Given the description of an element on the screen output the (x, y) to click on. 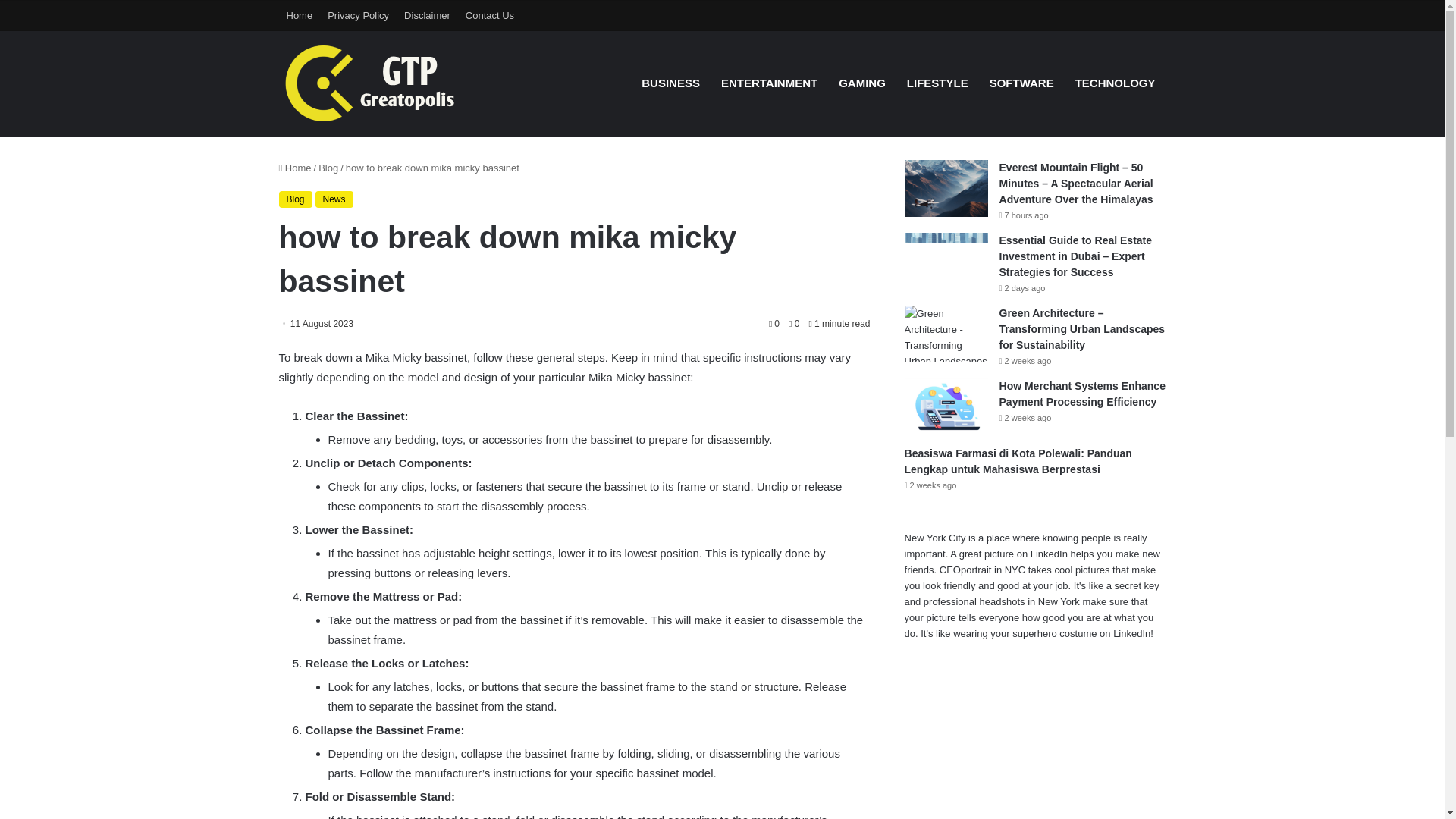
News (334, 199)
Blog (327, 167)
Blog (296, 199)
Home (299, 15)
Disclaimer (427, 15)
Contact Us (489, 15)
ENTERTAINMENT (769, 83)
Great Opolis (392, 83)
Home (295, 167)
TECHNOLOGY (1115, 83)
